Given the description of an element on the screen output the (x, y) to click on. 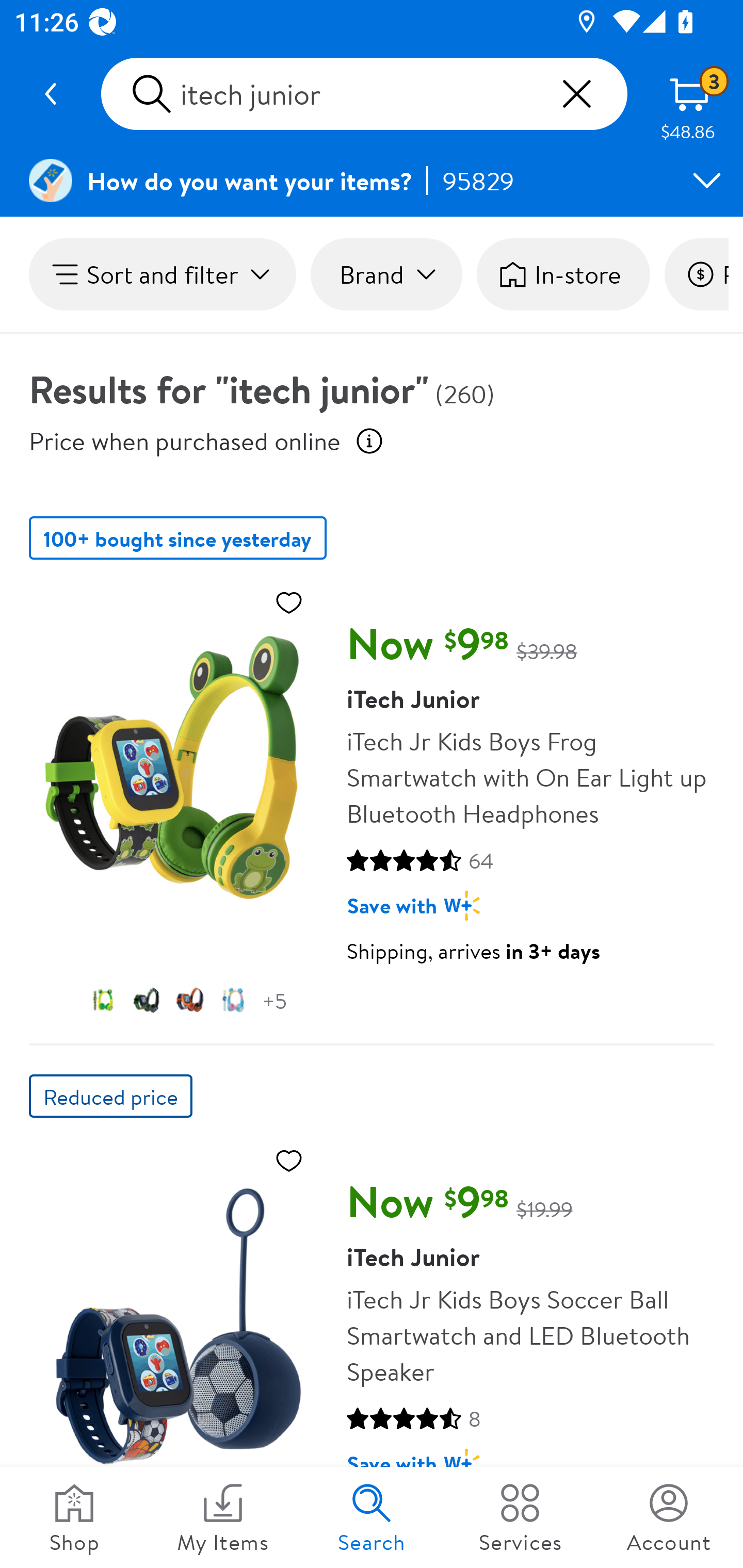
Navigate up (50, 93)
itech junior Clear Text (364, 94)
Clear Text (576, 94)
Filter by Brand, not applied,  Brand Select icon (386, 274)
Price when purchased online (184, 440)
Price when purchased online (369, 440)
Shop (74, 1517)
My Items (222, 1517)
Services (519, 1517)
Account (668, 1517)
